Given the description of an element on the screen output the (x, y) to click on. 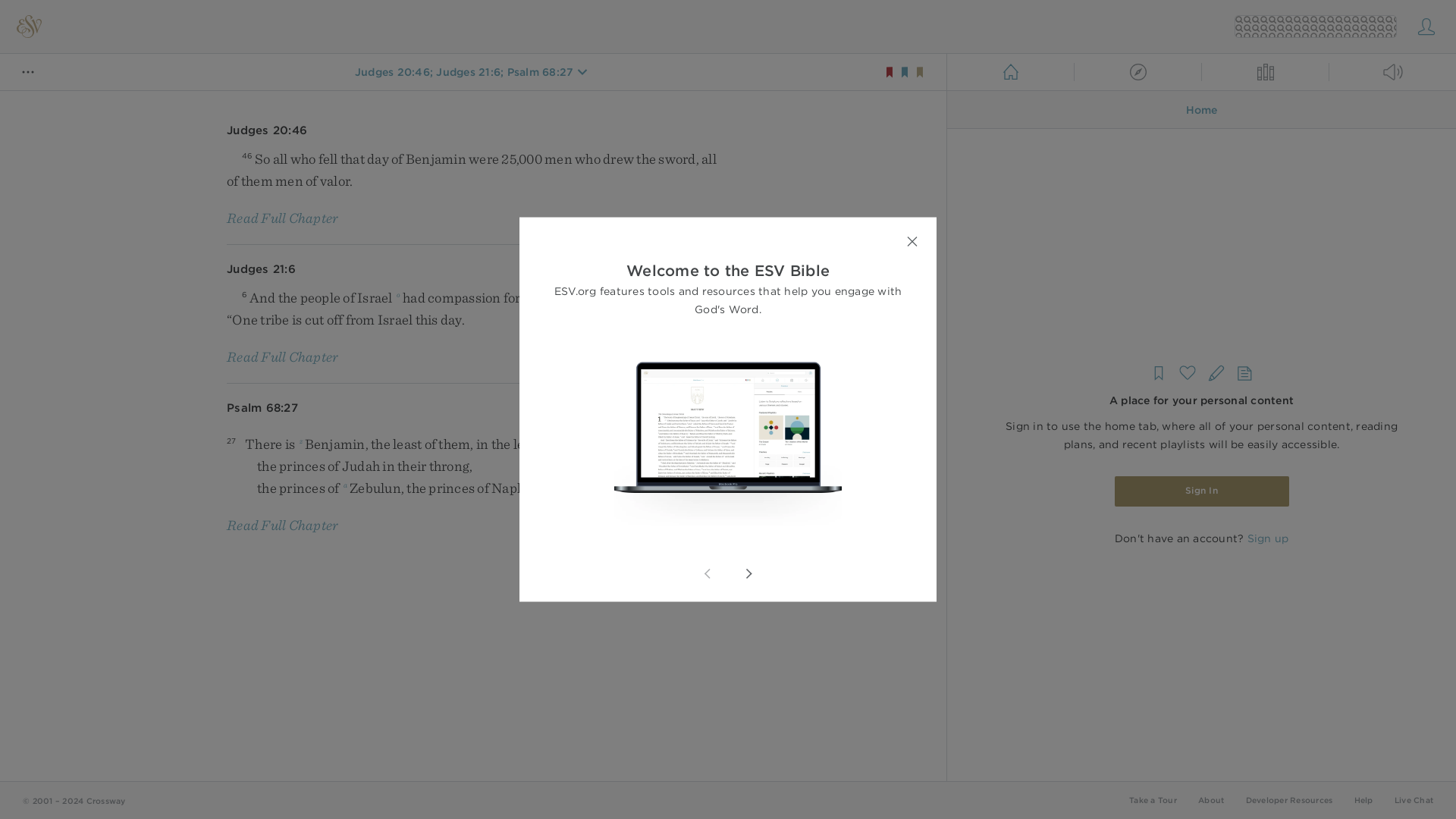
Read Full Chapter (282, 524)
Help (1363, 800)
About (1211, 800)
Judges 20:46; Judges 21:6; Psalm 68:27 (464, 71)
Developer Resources (1288, 800)
Read Full Chapter (282, 356)
Take a Tour (1152, 800)
Live Chat (1413, 800)
Sign up (1267, 538)
Read Full Chapter (282, 217)
Sign In (1201, 490)
